Given the description of an element on the screen output the (x, y) to click on. 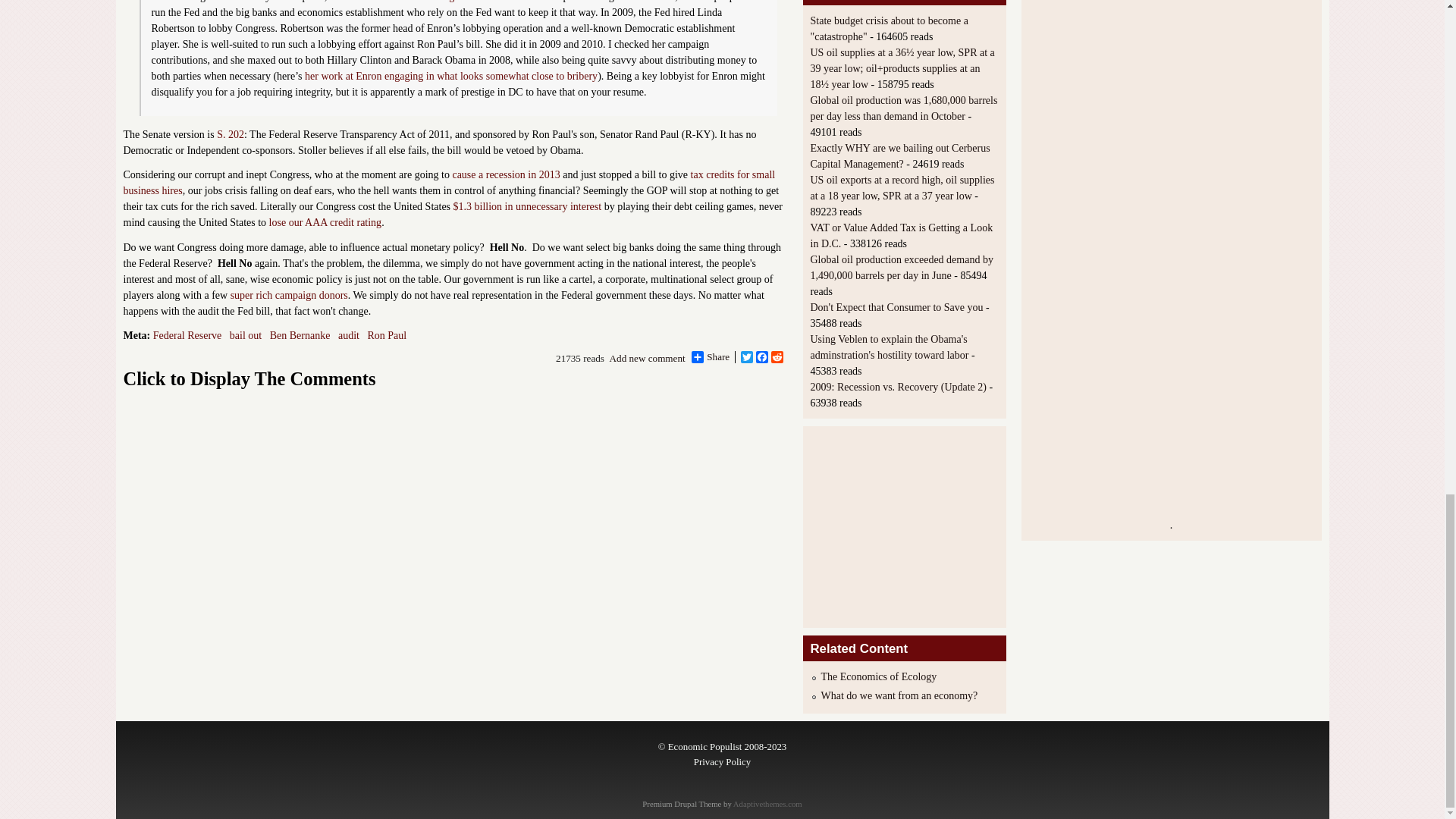
audit (348, 335)
bail out (246, 335)
Share (710, 357)
Ben Bernanke (299, 335)
S. 202 (230, 134)
lose our AAA credit rating (325, 222)
cause a recession in 2013 (505, 174)
How the Federal Reserve Fights (397, 1)
Share your thoughts and opinions related to this posting. (647, 357)
Ron Paul (386, 335)
super rich campaign donors (288, 294)
tax credits for small business hires (448, 182)
Federal Reserve (187, 335)
Twitter (746, 357)
